Given the description of an element on the screen output the (x, y) to click on. 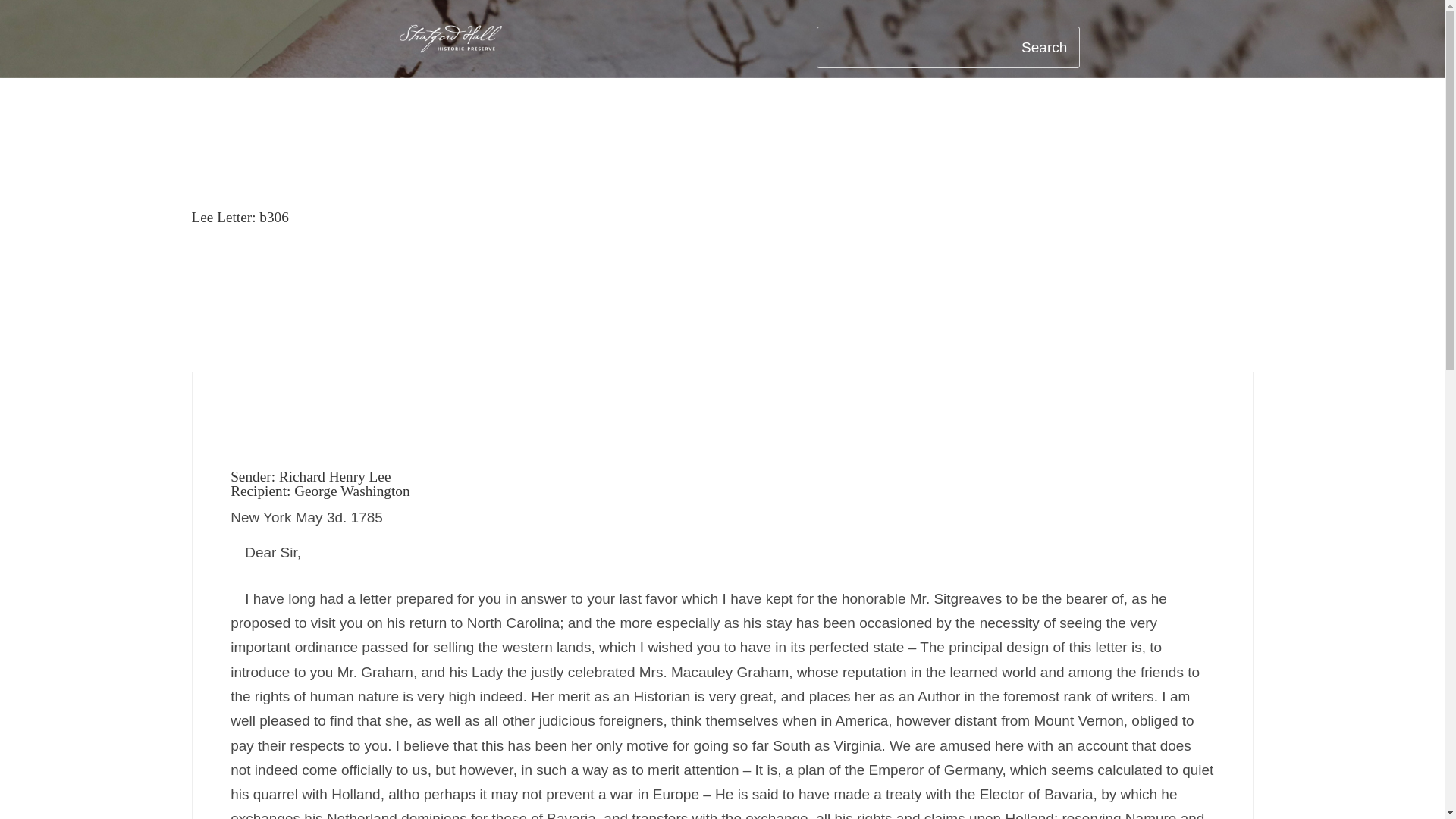
At A Glance (947, 147)
Search (1044, 47)
About Us (1044, 147)
Other Tools (845, 147)
Texts About Lees (723, 147)
Search (1044, 47)
Search (1044, 47)
Lee Letters (612, 147)
